Given the description of an element on the screen output the (x, y) to click on. 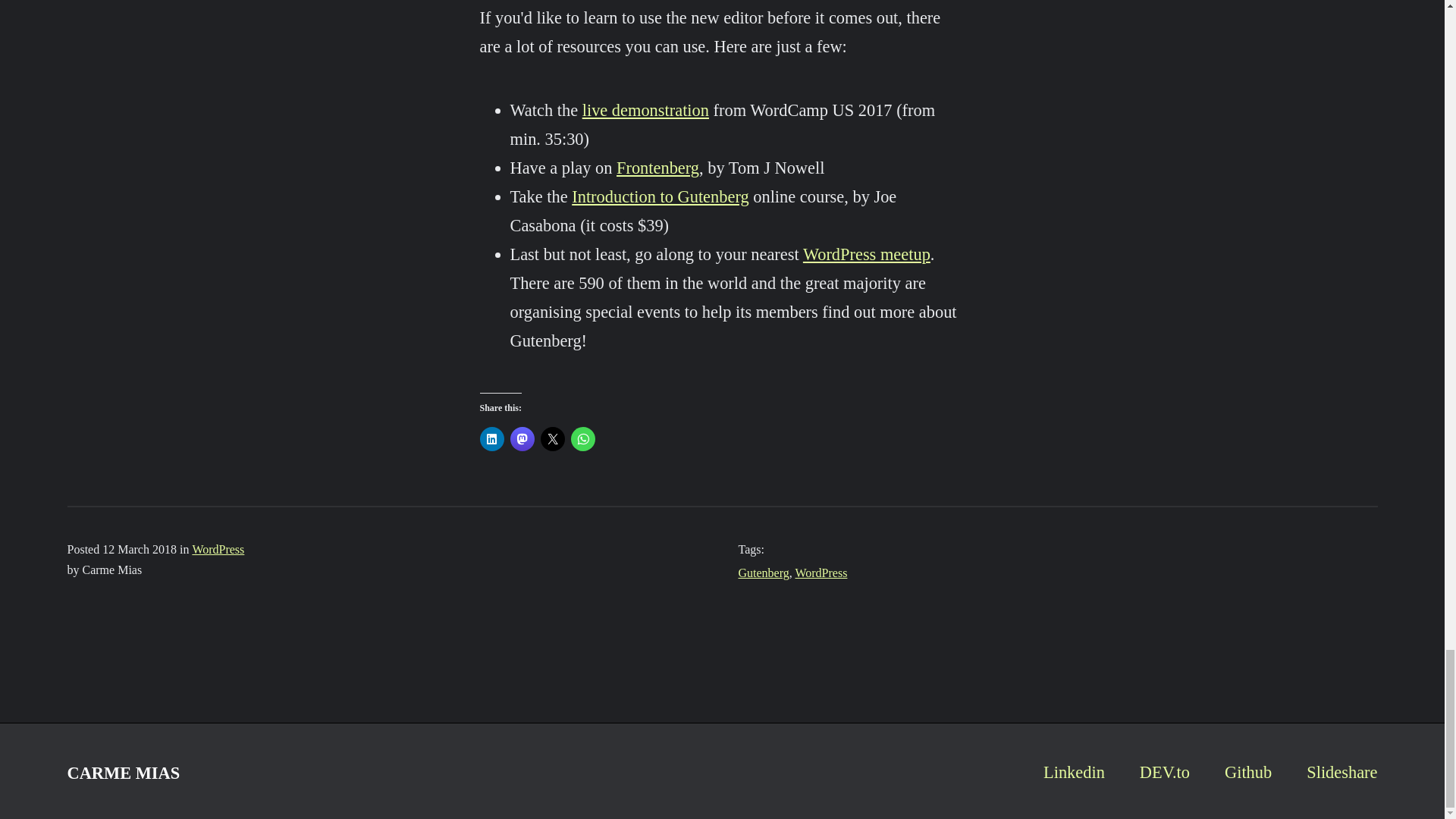
Frontenberg (656, 167)
Introduction to Gutenberg (660, 196)
Gutenberg (763, 572)
DEV.to (1164, 772)
WordPress (218, 549)
Click to share on X (552, 438)
Click to share on WhatsApp (582, 438)
Github (1247, 772)
Linkedin (1074, 772)
live demonstration (645, 109)
